Given the description of an element on the screen output the (x, y) to click on. 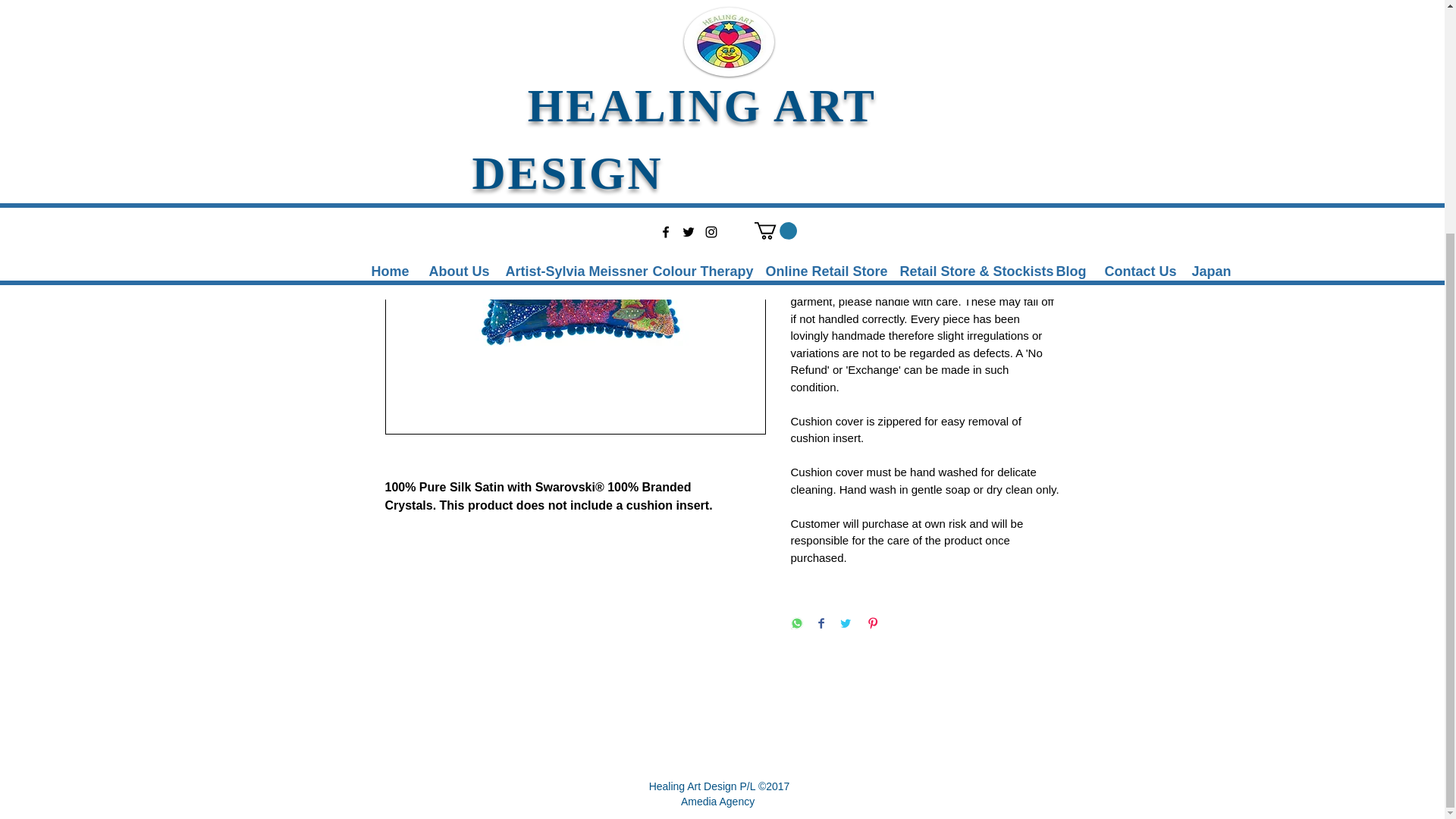
Out of Stock (924, 179)
Return Policy and Care Instructions (924, 238)
